Given the description of an element on the screen output the (x, y) to click on. 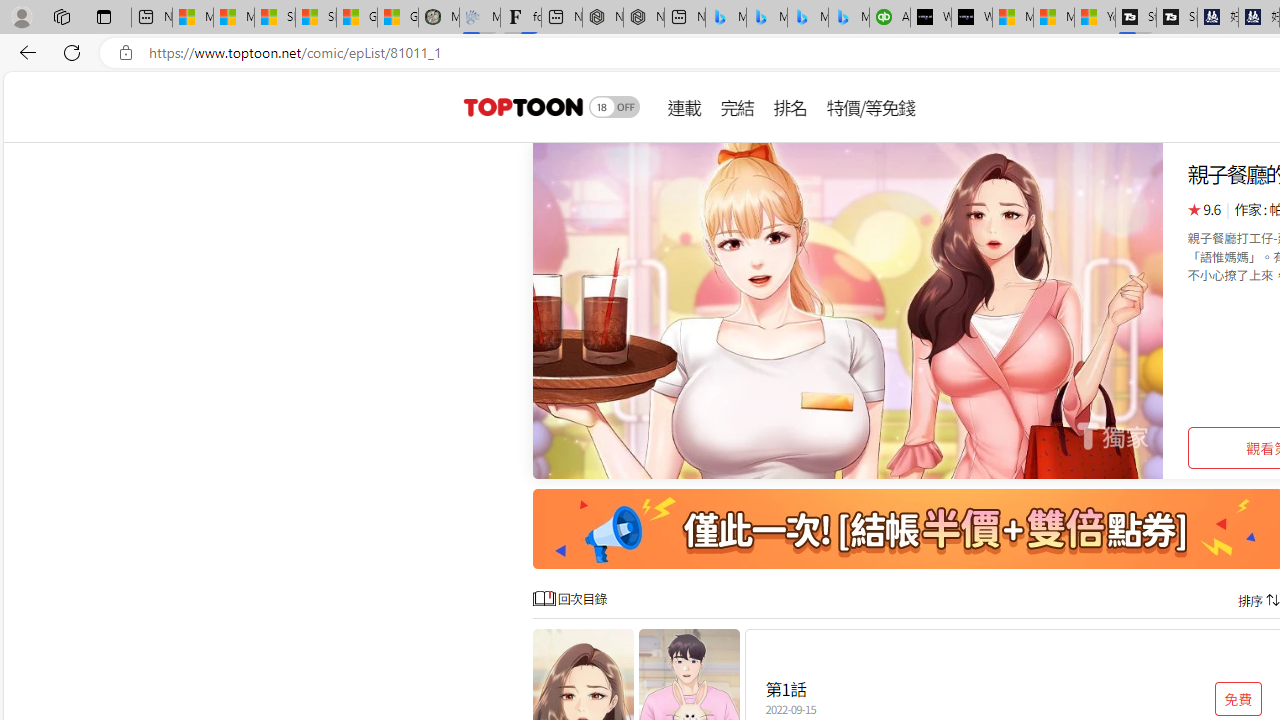
Manatee Mortality Statistics | FWC (438, 17)
Nordace - #1 Japanese Best-Seller - Siena Smart Backpack (643, 17)
Class:  switch_18mode actionAdultBtn (614, 106)
Shanghai, China weather forecast | Microsoft Weather (315, 17)
